Given the description of an element on the screen output the (x, y) to click on. 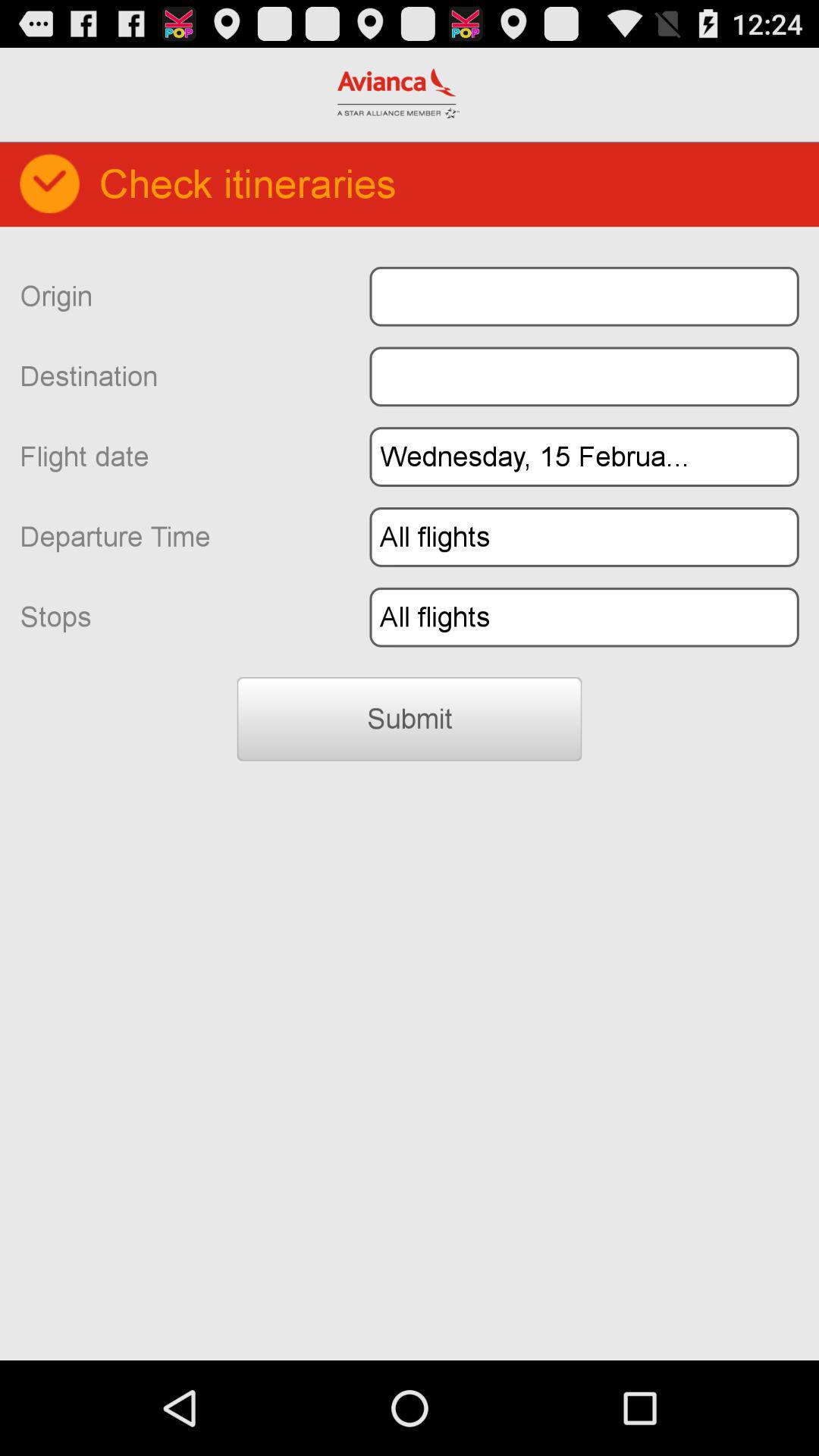
choose the submit icon (409, 718)
